Given the description of an element on the screen output the (x, y) to click on. 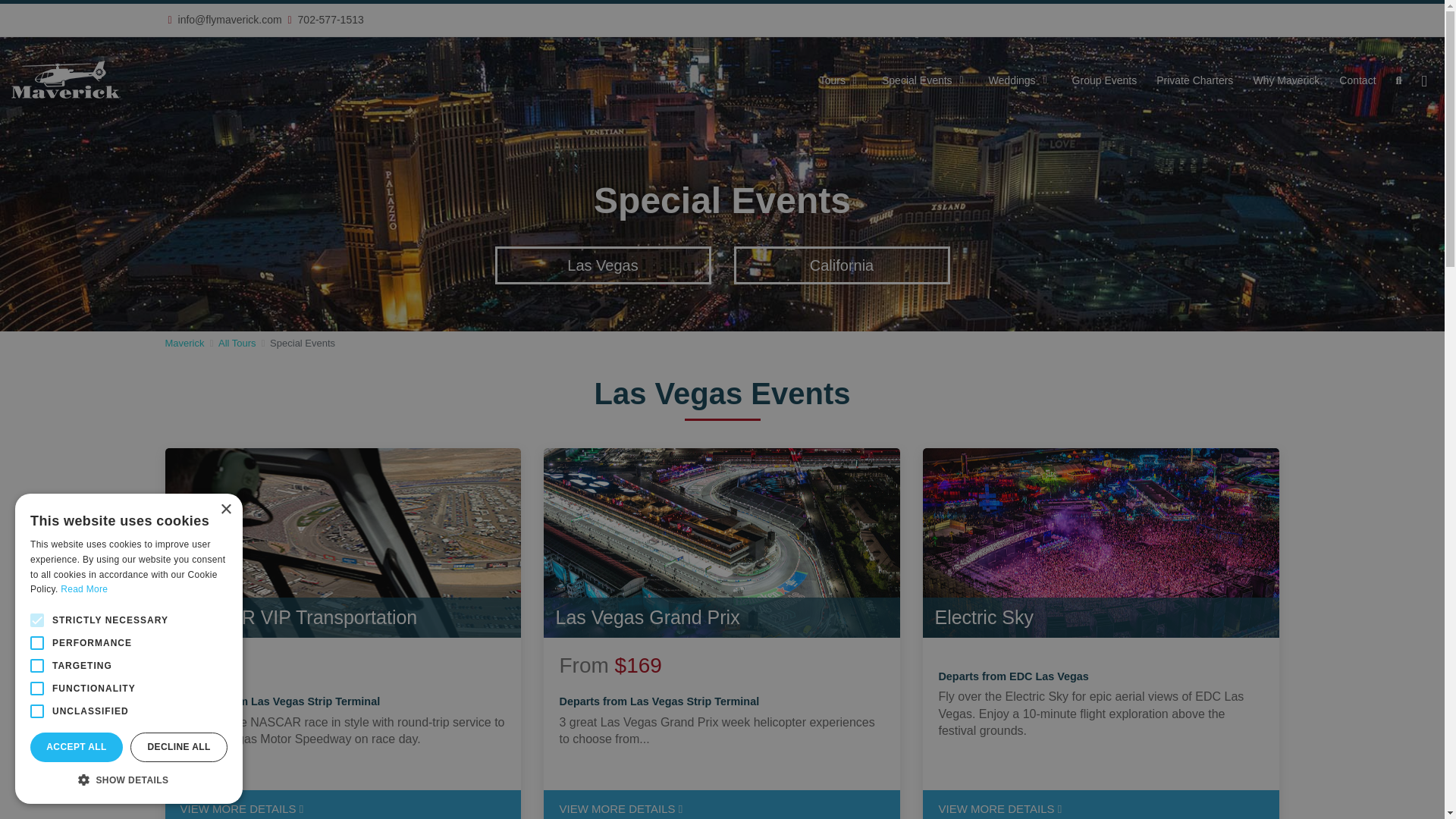
Contact (1357, 76)
Private Charters (1194, 76)
Las Vegas (602, 265)
Tours (840, 76)
Group Events (1103, 76)
California (841, 265)
702-577-1513 (682, 7)
Weddings (1020, 76)
Why Maverick (1285, 76)
Special Events (925, 76)
702-577-1513 (329, 19)
Maverick Helicopter Tours (65, 79)
702-710-5276 (768, 7)
Maverick (185, 342)
